Given the description of an element on the screen output the (x, y) to click on. 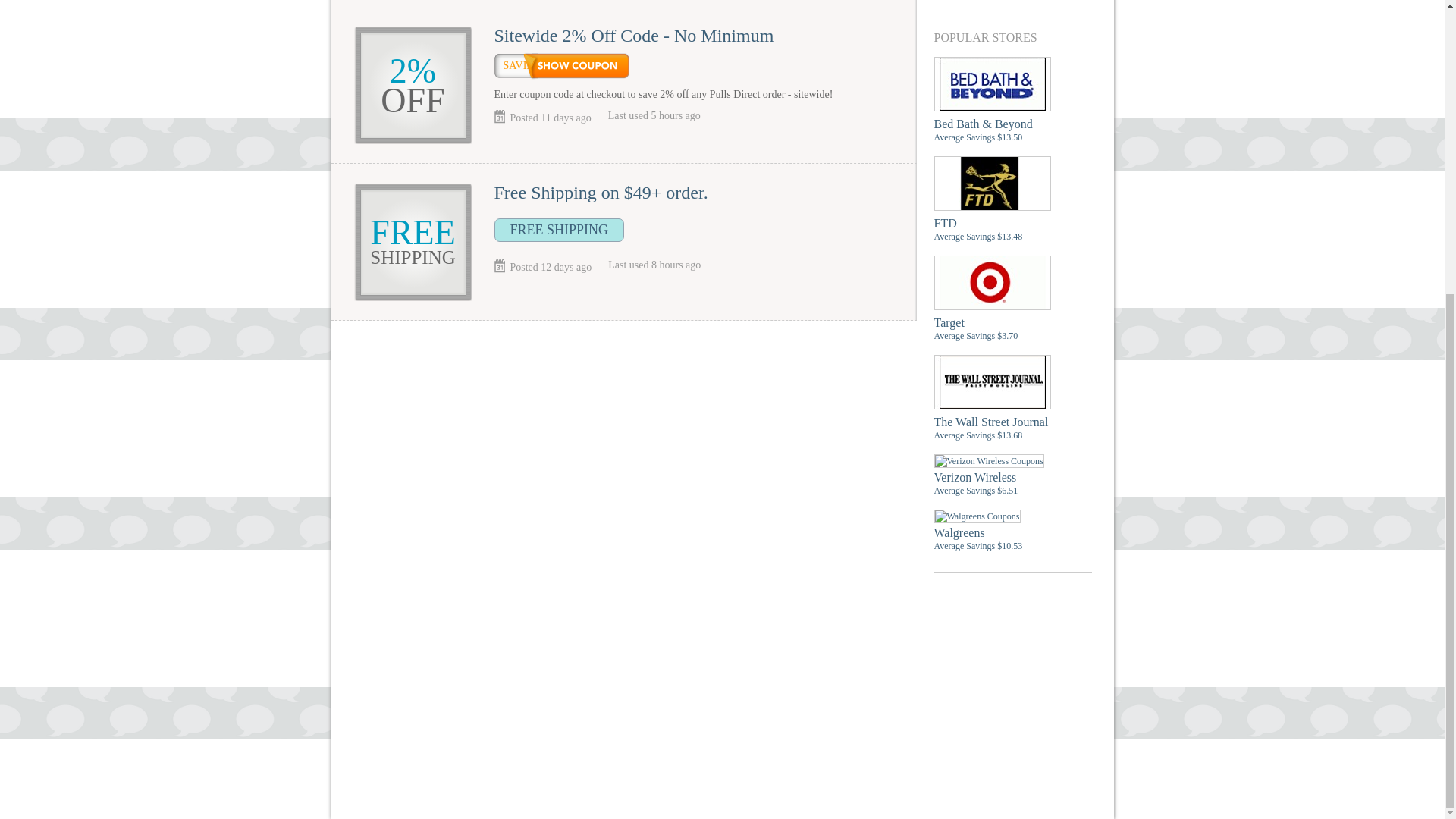
FREE SHIPPING (559, 229)
SAVIN (561, 66)
TheCouponScoop.com (687, 723)
Privacy (722, 698)
